Given the description of an element on the screen output the (x, y) to click on. 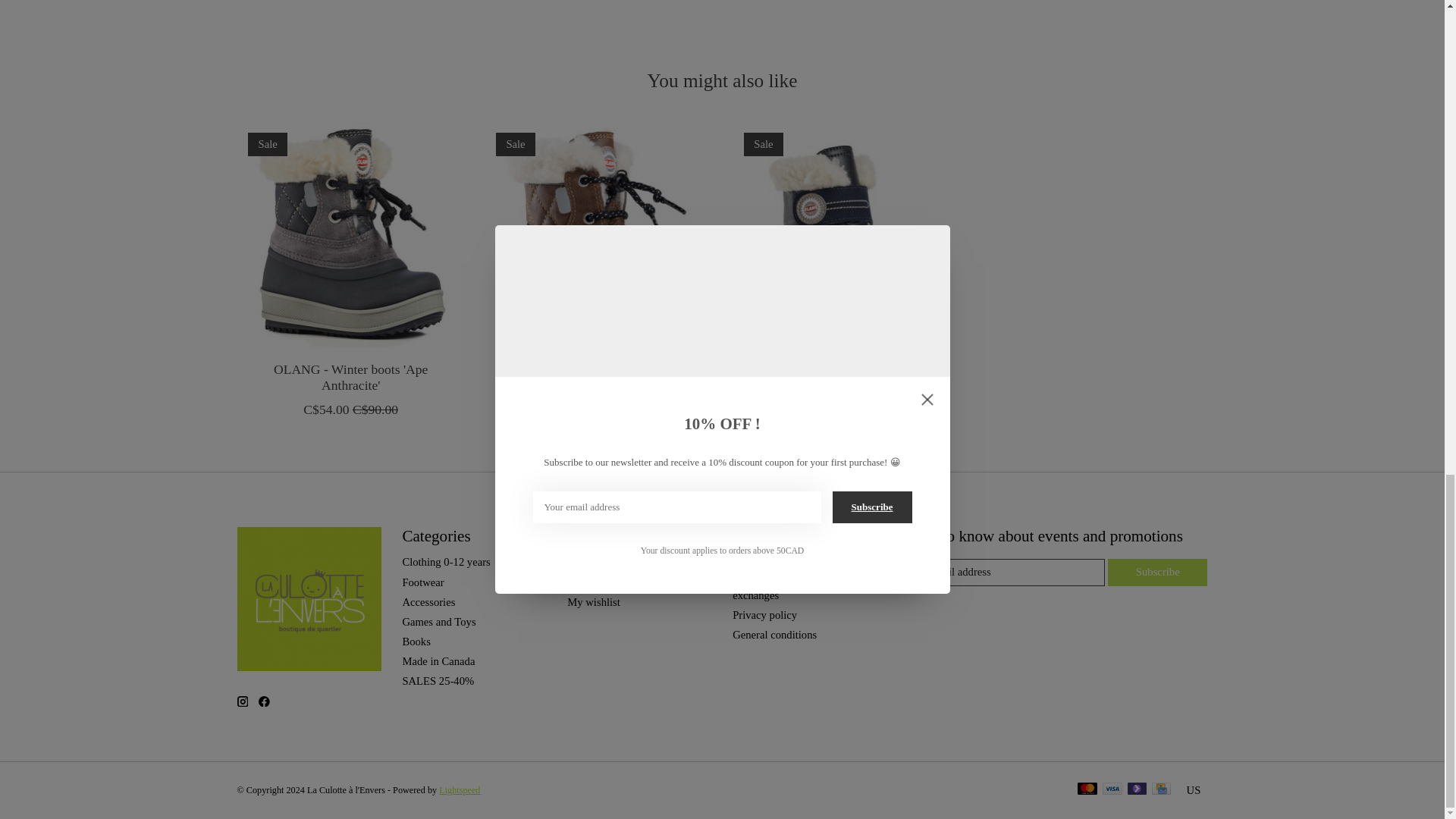
My wishlist (593, 602)
Olang OLANG - Winter boots 'Ape Choco' (597, 235)
Register (585, 562)
Address and opening hours (792, 562)
Olang OLANG - Winter boots 'Ape Anthracite' (349, 235)
My orders (589, 582)
Olang OLANG - Winter boots 'Elfo Blu' (845, 235)
